Given the description of an element on the screen output the (x, y) to click on. 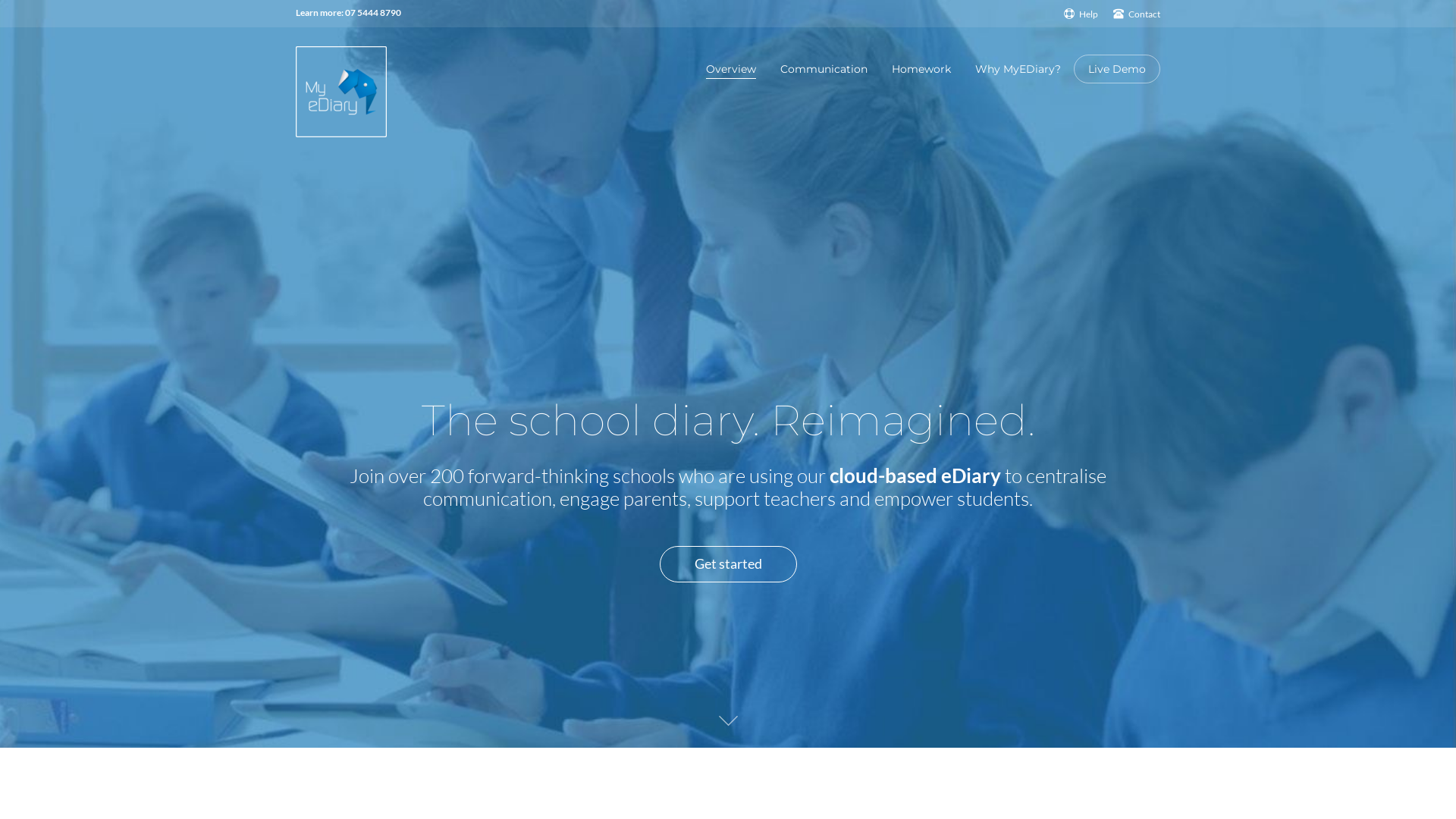
Live Demo Element type: text (1116, 68)
Get started Element type: text (728, 564)
Why MyEDiary? Element type: text (1017, 68)
Contact Element type: text (1136, 13)
Communication Element type: text (823, 68)
Help Element type: text (1080, 13)
Overview Element type: text (731, 68)
Homework Element type: text (920, 68)
